Given the description of an element on the screen output the (x, y) to click on. 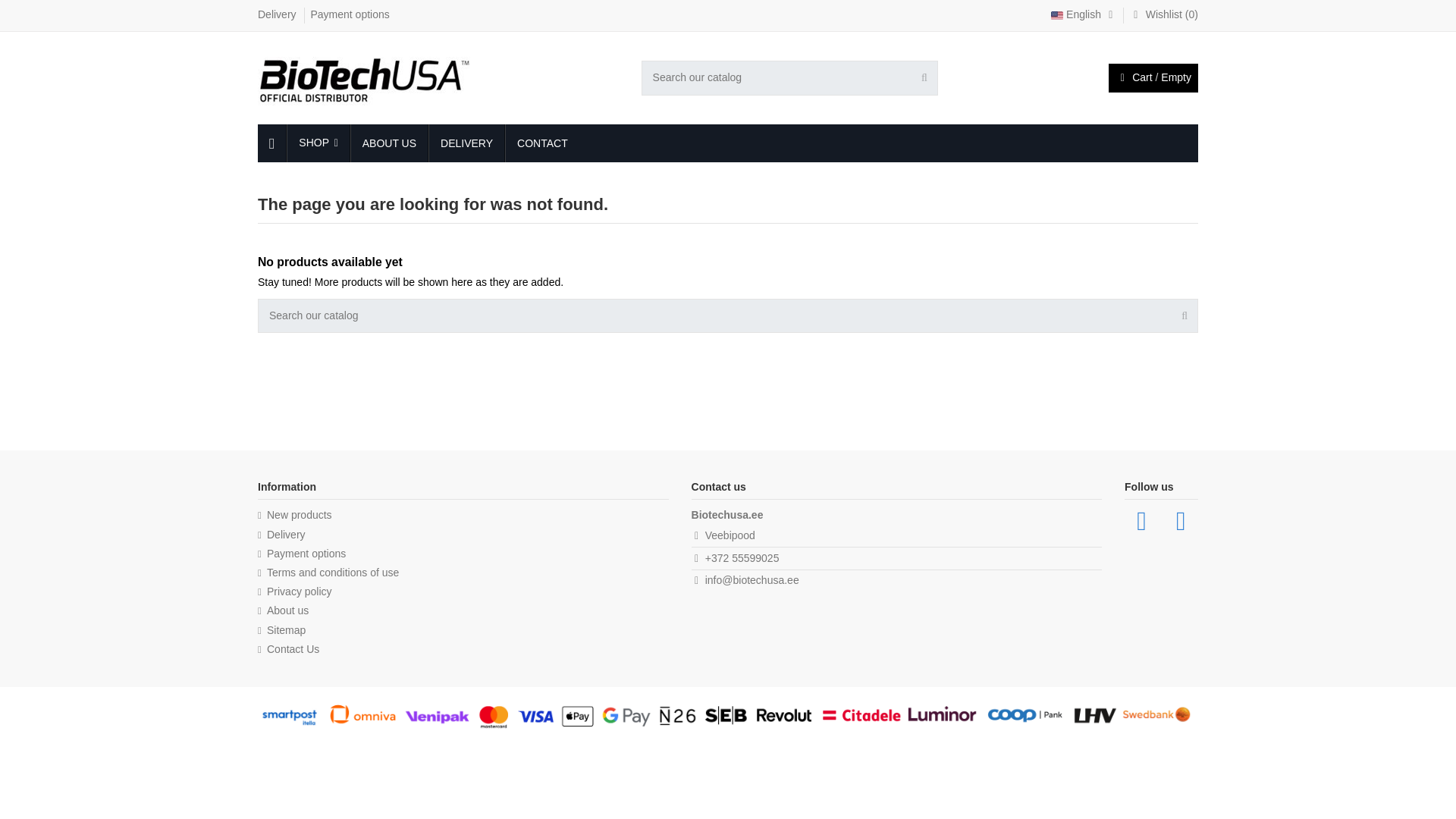
About us (282, 611)
Payment options (349, 14)
Delivery (277, 14)
DELIVERY (465, 143)
SHOP (317, 143)
Payment options (349, 14)
Privacy policy (294, 591)
Our new products (294, 515)
Our terms and conditions of delivery (281, 534)
ABOUT US (388, 143)
